Given the description of an element on the screen output the (x, y) to click on. 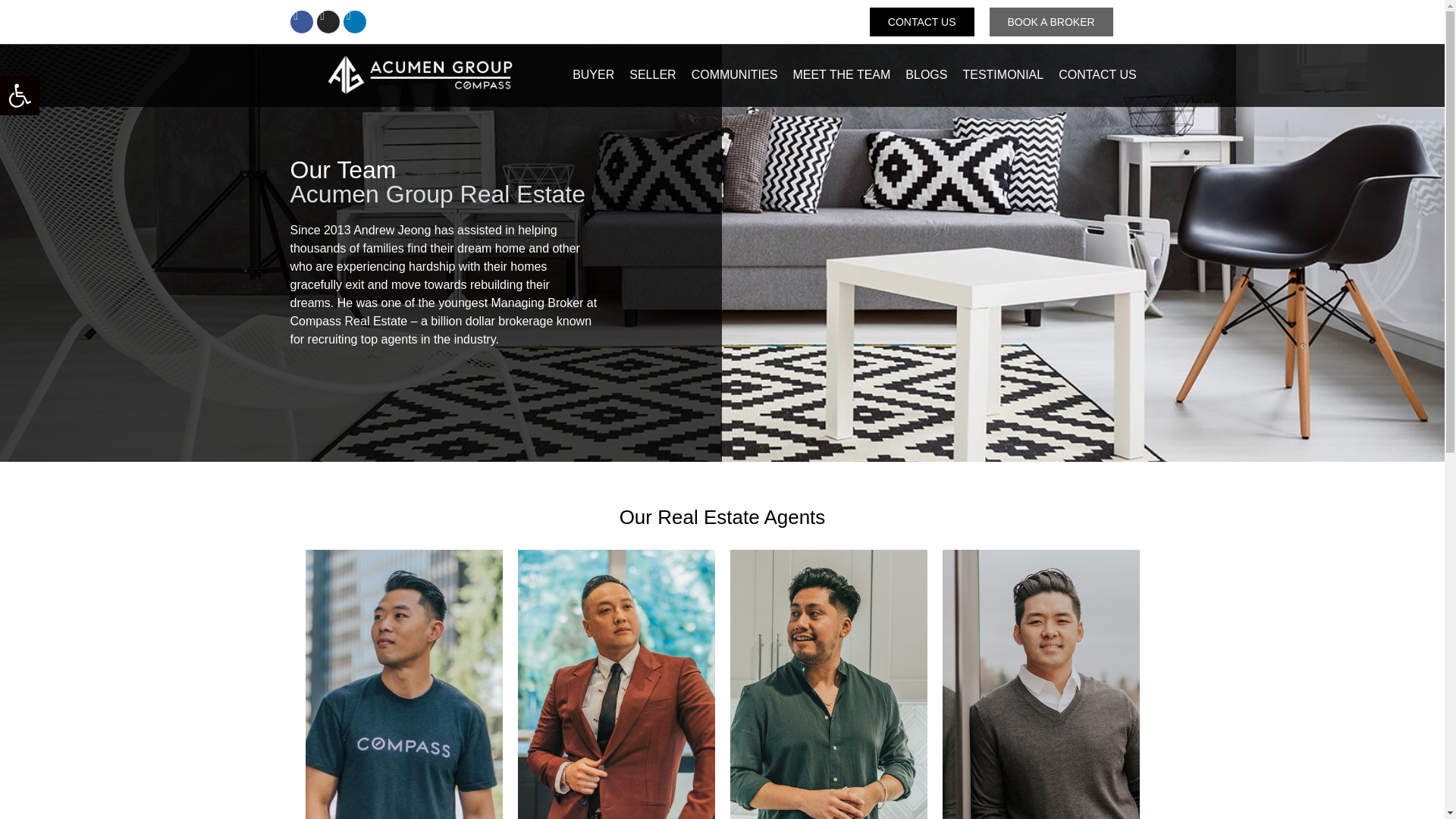
CONTACT US (1097, 74)
Accessibility Tools (19, 95)
MEET THE TEAM (841, 74)
COMMUNITIES (735, 74)
BOOK A BROKER (1050, 21)
CONTACT US (921, 21)
BLOGS (926, 74)
TESTIMONIAL (1003, 74)
SELLER (651, 74)
Accessibility Tools (19, 95)
